Given the description of an element on the screen output the (x, y) to click on. 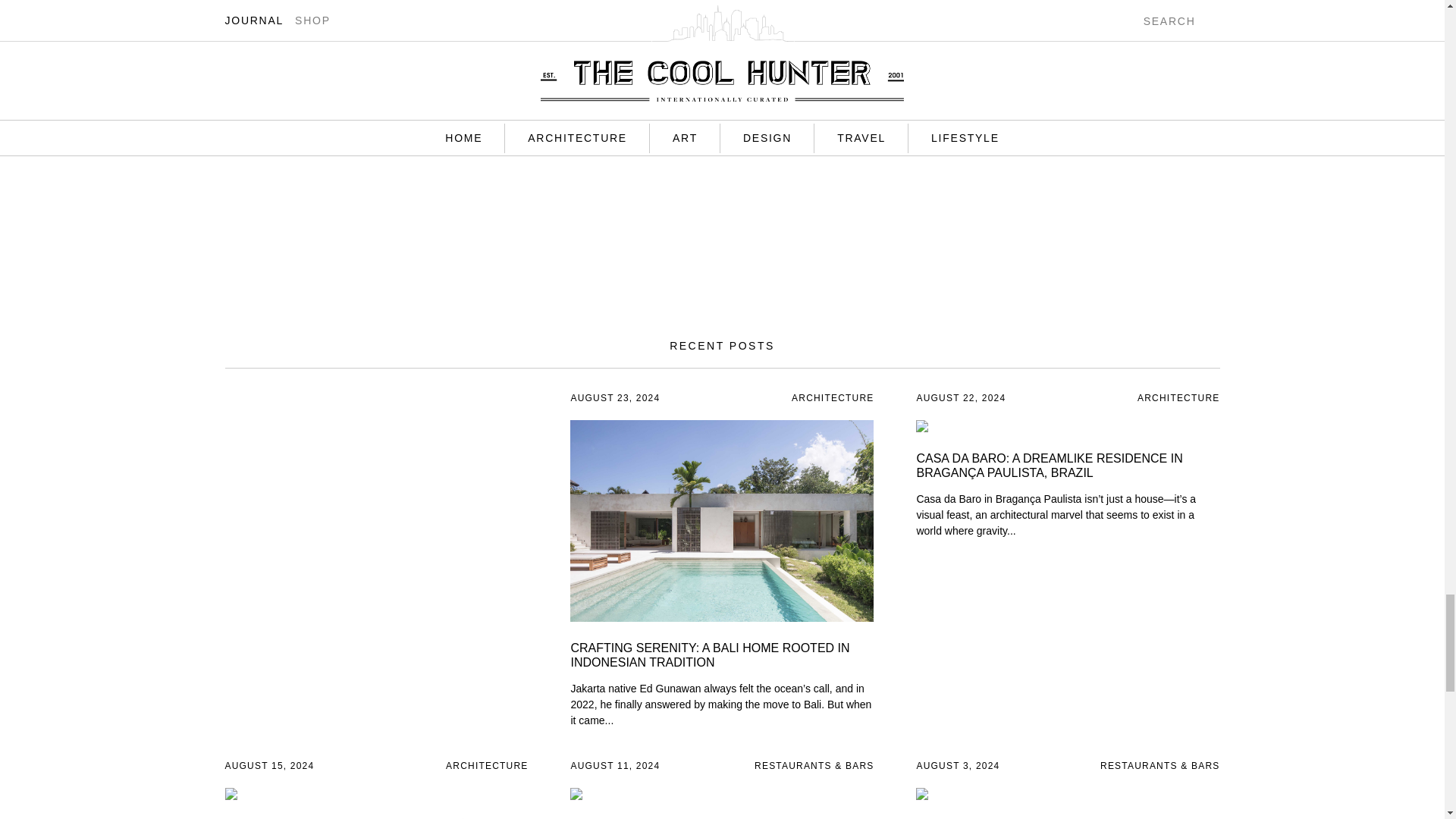
View all posts in Architecture (1178, 398)
View all posts in Architecture (486, 765)
View all posts in Architecture (832, 398)
